Given the description of an element on the screen output the (x, y) to click on. 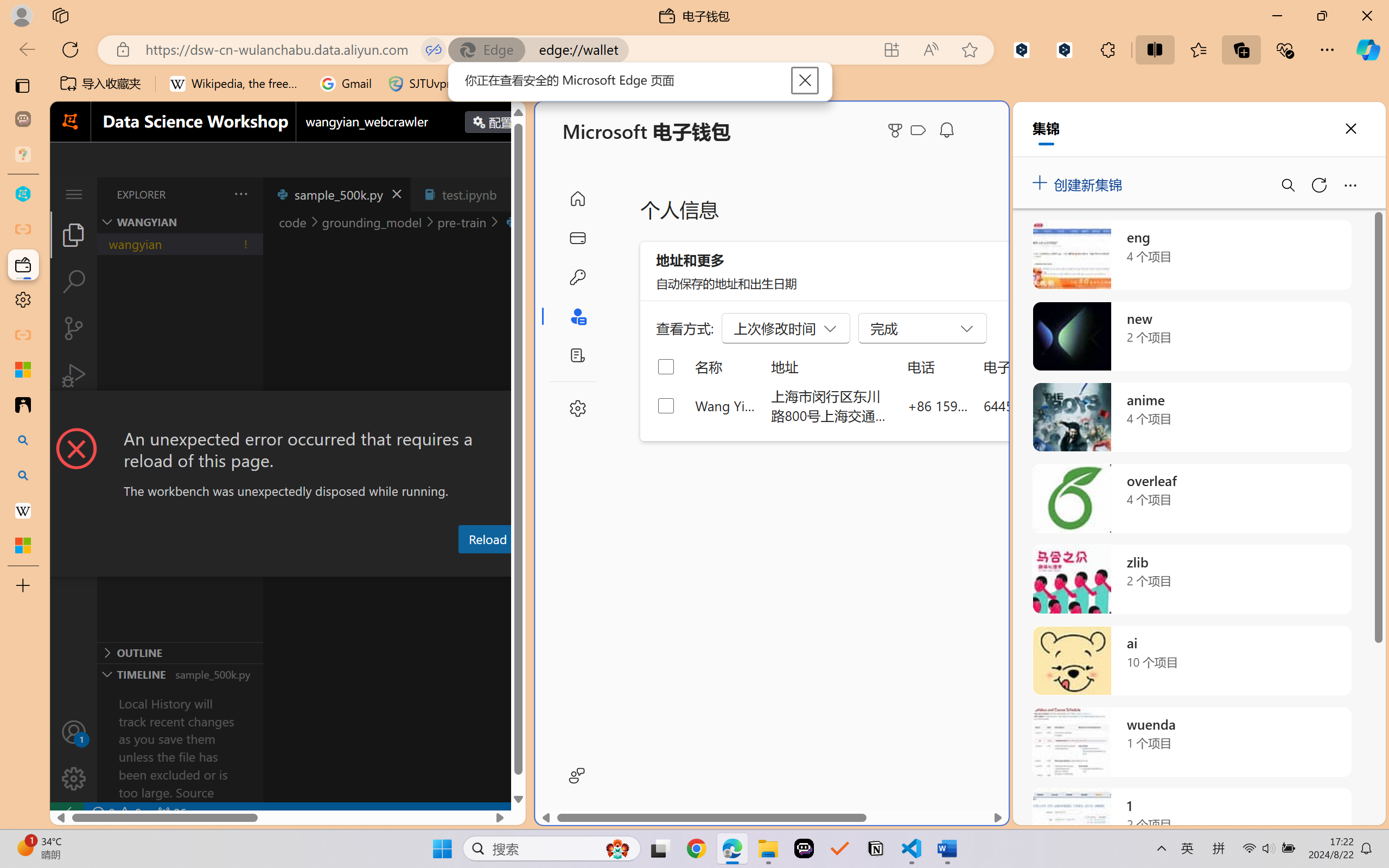
Terminal (Ctrl+`) (553, 565)
644553698@qq.com (1043, 405)
